Given the description of an element on the screen output the (x, y) to click on. 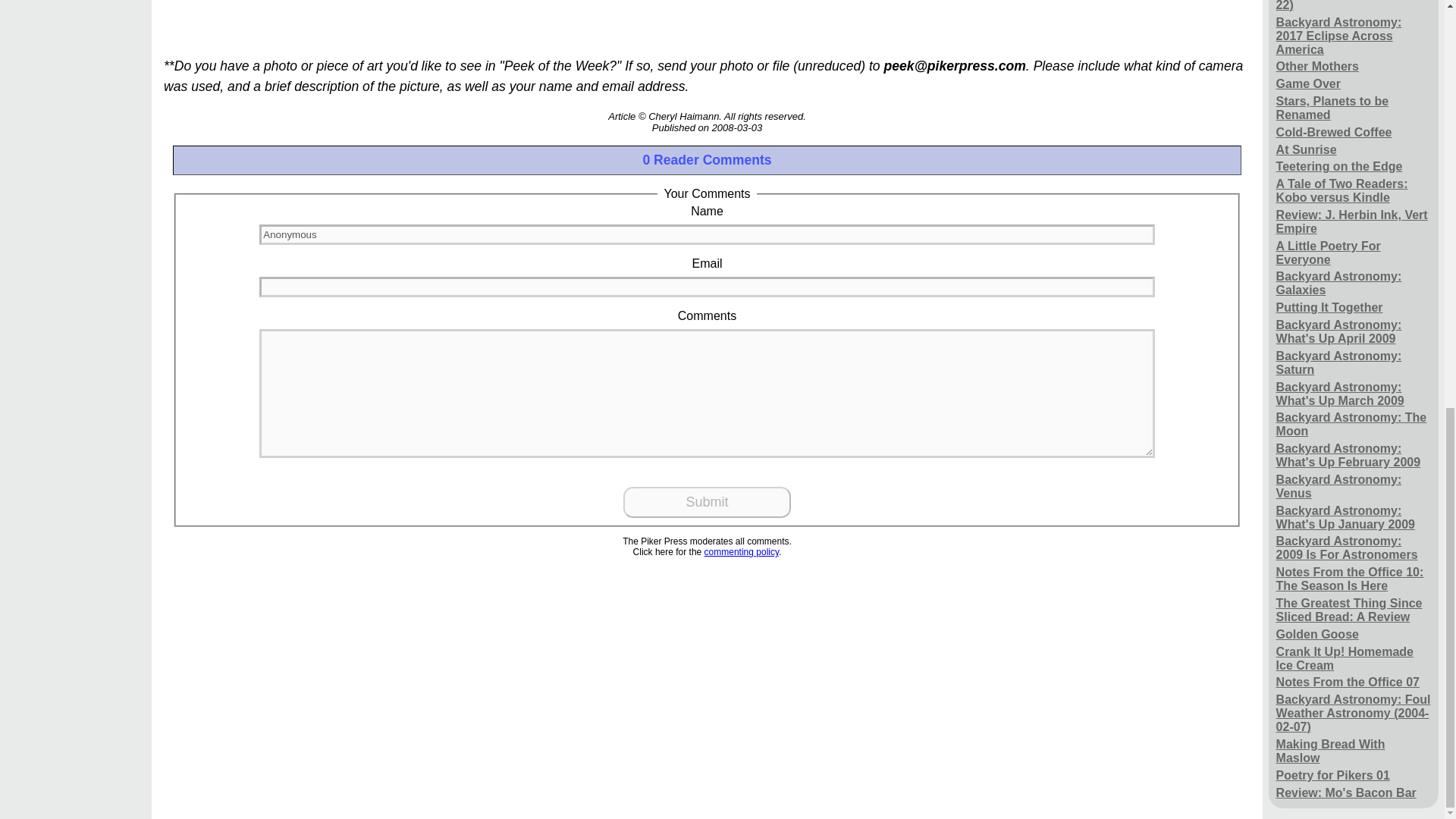
Backyard Astronomy: 2017 Eclipse Across America (1353, 35)
Submit (706, 501)
commenting policy (741, 552)
Submit (706, 501)
Anonymous (706, 234)
